Given the description of an element on the screen output the (x, y) to click on. 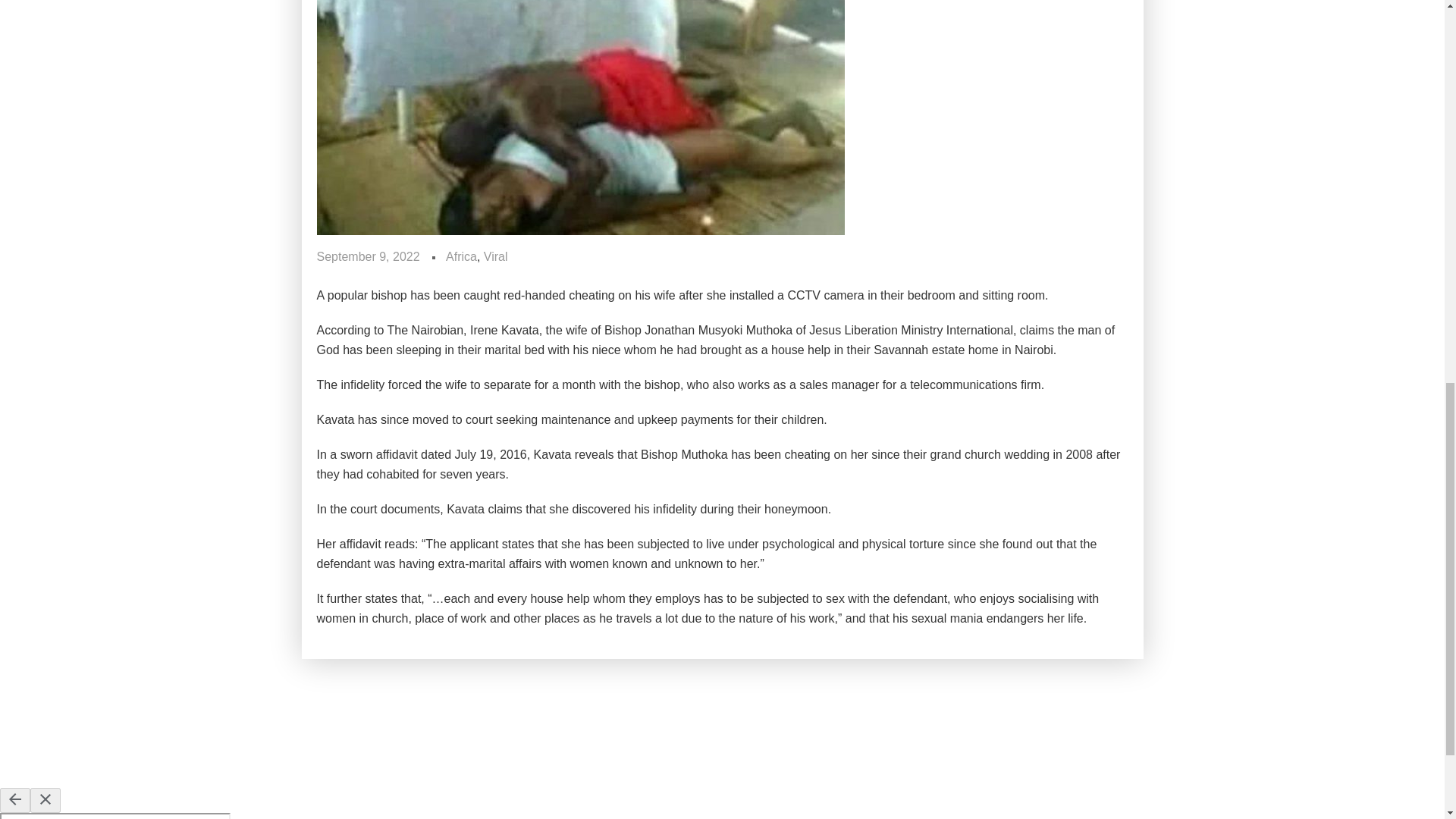
Viral (495, 256)
September 9, 2022 (368, 256)
Africa (461, 256)
